Given the description of an element on the screen output the (x, y) to click on. 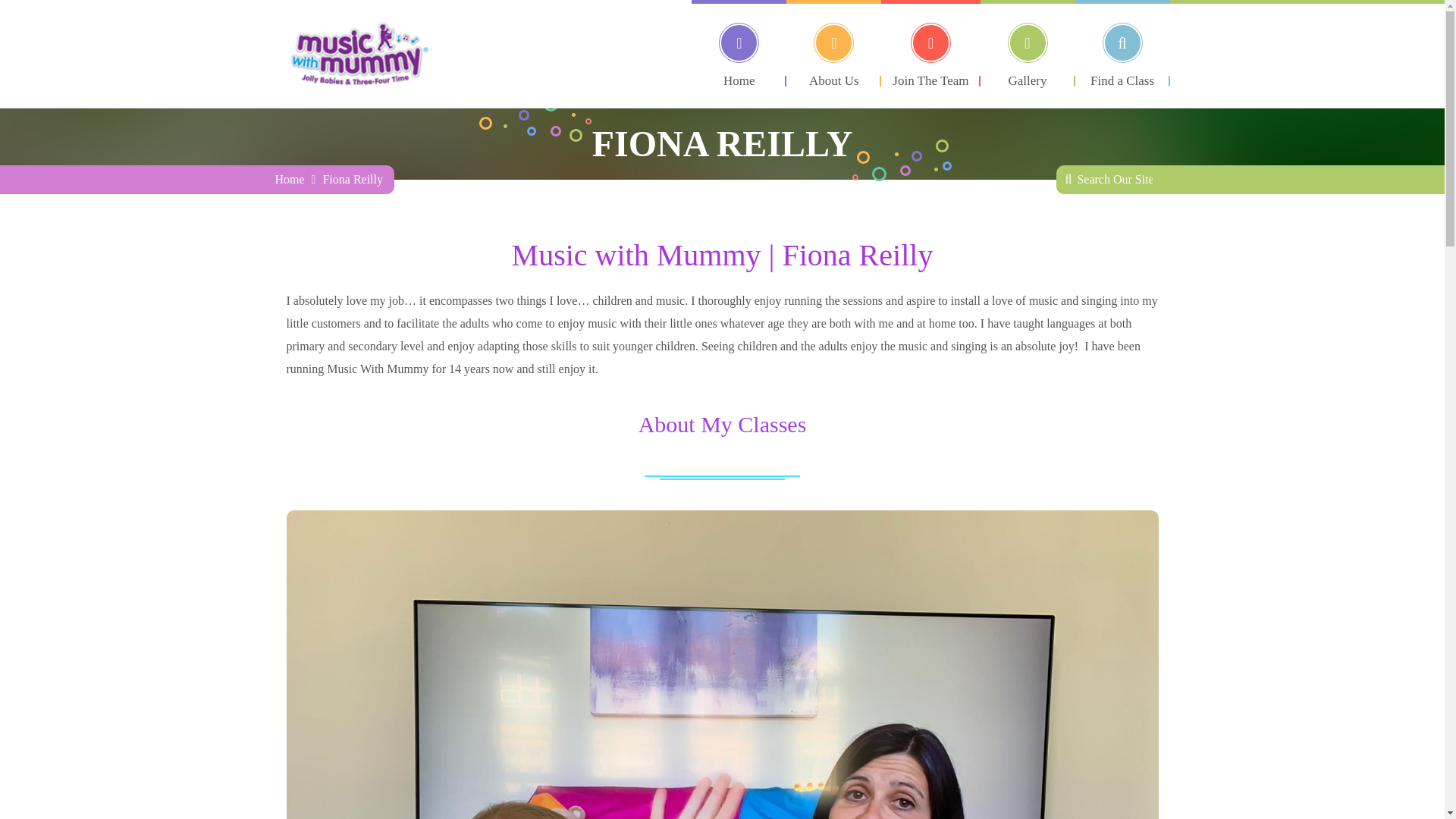
Music with Mummy (358, 53)
Home (289, 178)
Find a Class (1122, 43)
Home (738, 43)
About Us (833, 43)
Join The Team (929, 43)
Gallery (1026, 43)
Music with Mummy (289, 178)
